Given the description of an element on the screen output the (x, y) to click on. 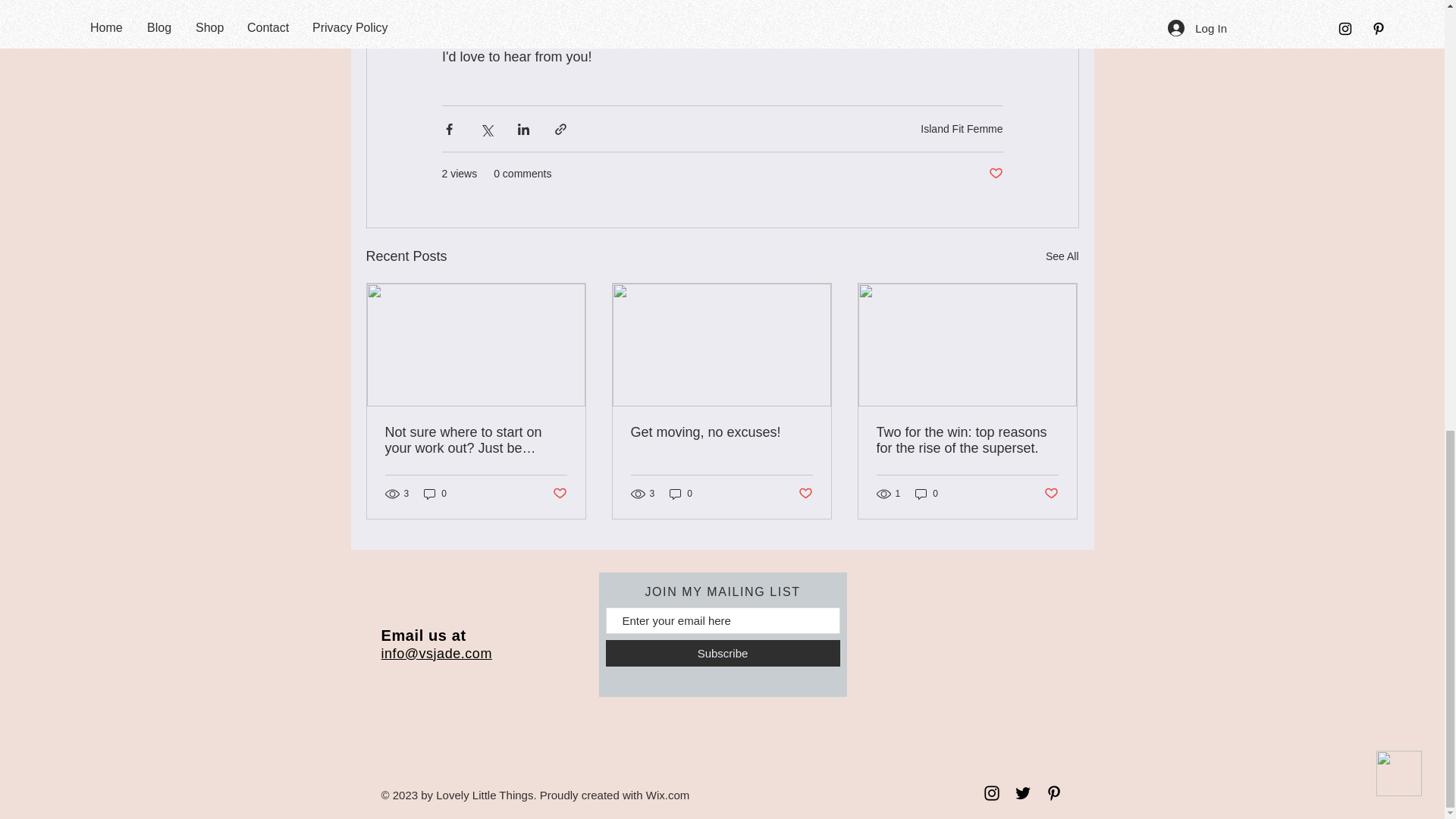
Post not marked as liked (558, 494)
Post not marked as liked (1050, 494)
0 (926, 493)
Post not marked as liked (995, 173)
0 (681, 493)
See All (1061, 256)
Two for the win: top reasons for the rise of the superset. (967, 440)
Island Fit Femme (961, 128)
0 (435, 493)
Get moving, no excuses! (721, 432)
